Given the description of an element on the screen output the (x, y) to click on. 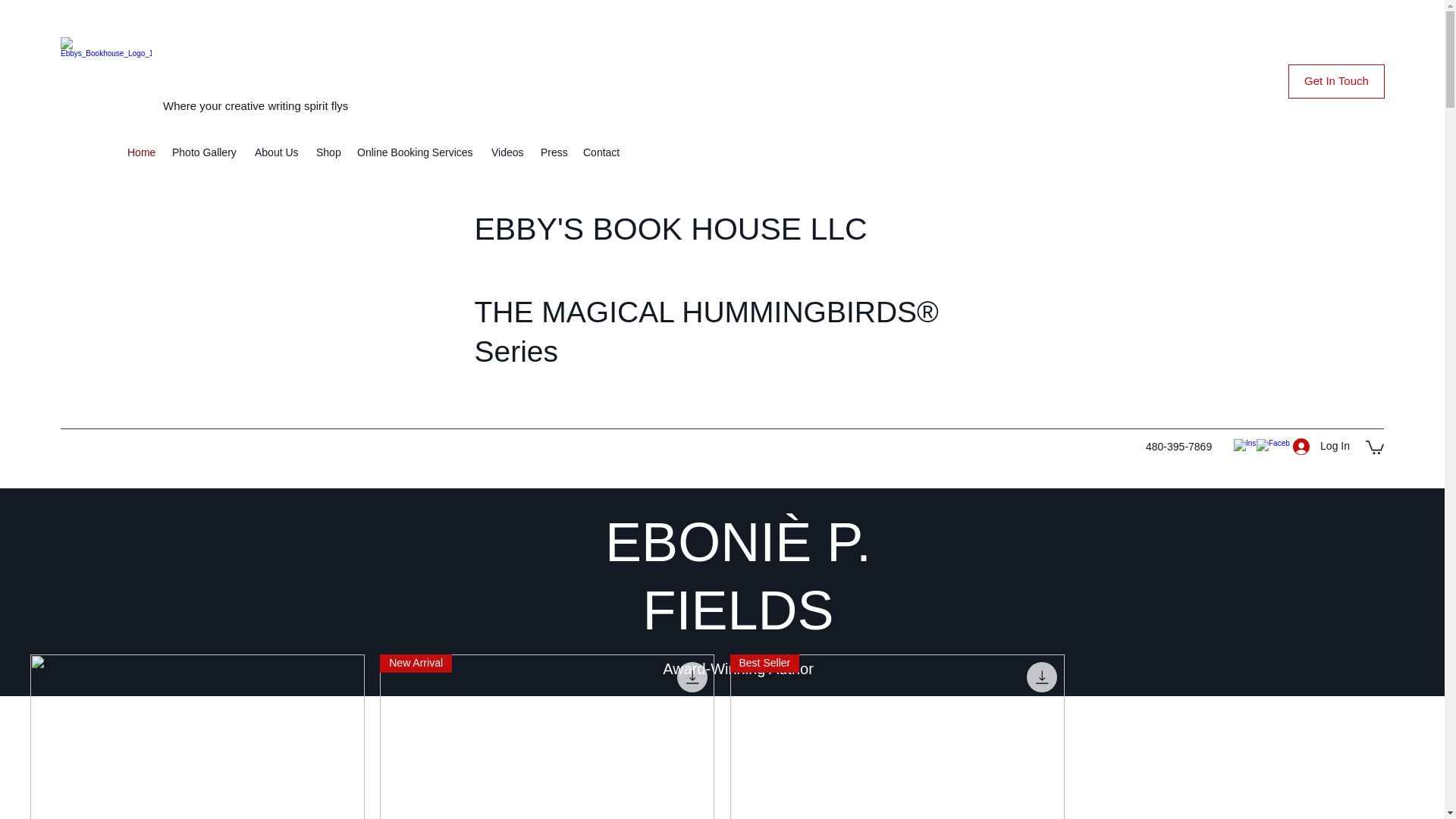
Videos (507, 152)
Home (141, 152)
Online Booking Services (416, 152)
EBBY'S BOOK HOUSE LLC (670, 228)
Contact (602, 152)
About Us (277, 152)
Log In (1320, 446)
New Arrival (547, 736)
Photo Gallery (205, 152)
Best Seller (896, 736)
Press (553, 152)
Shop (328, 152)
